Given the description of an element on the screen output the (x, y) to click on. 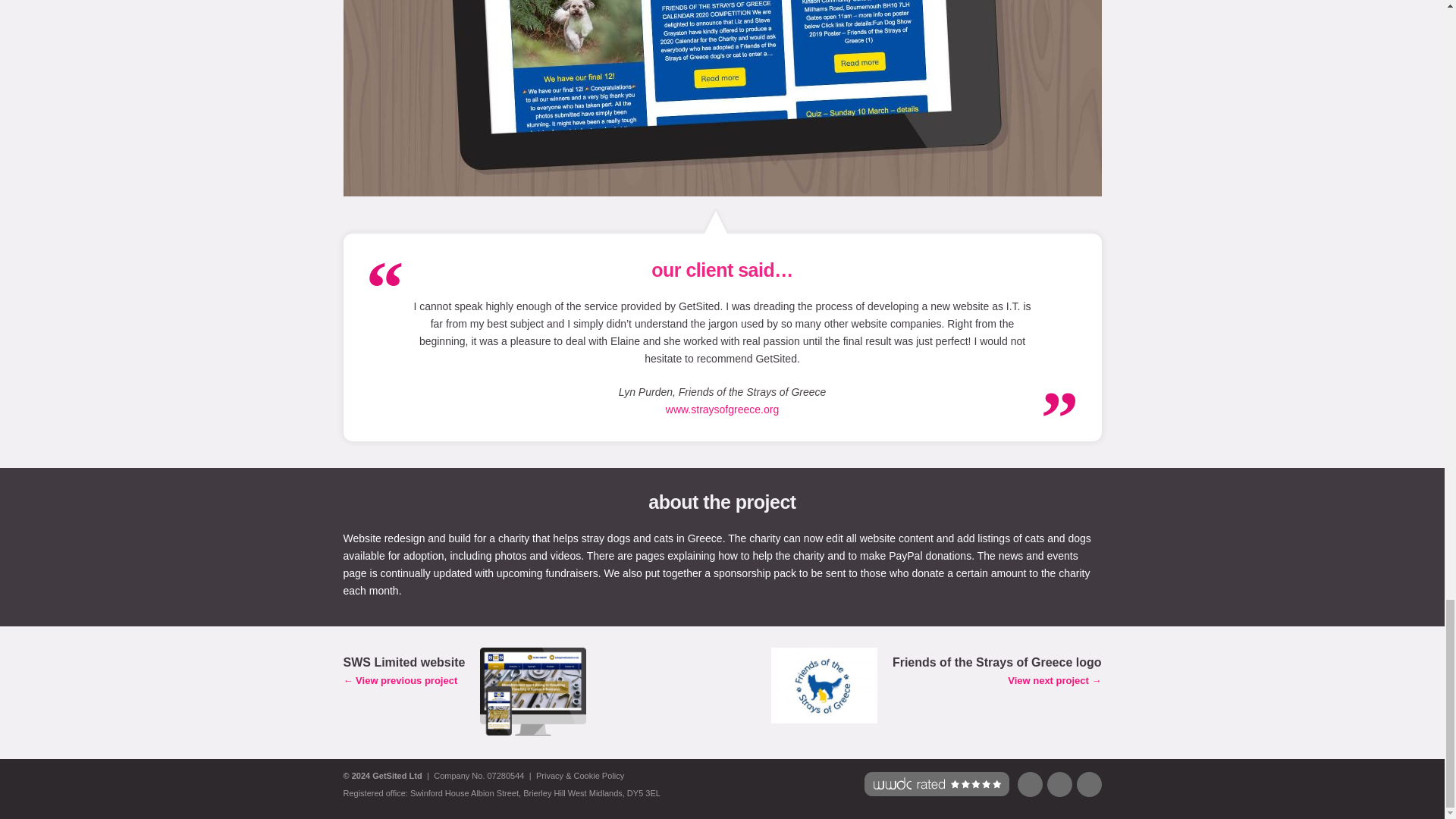
www.straysofgreece.org (721, 409)
Friends of the Strays of Greece (721, 409)
